Given the description of an element on the screen output the (x, y) to click on. 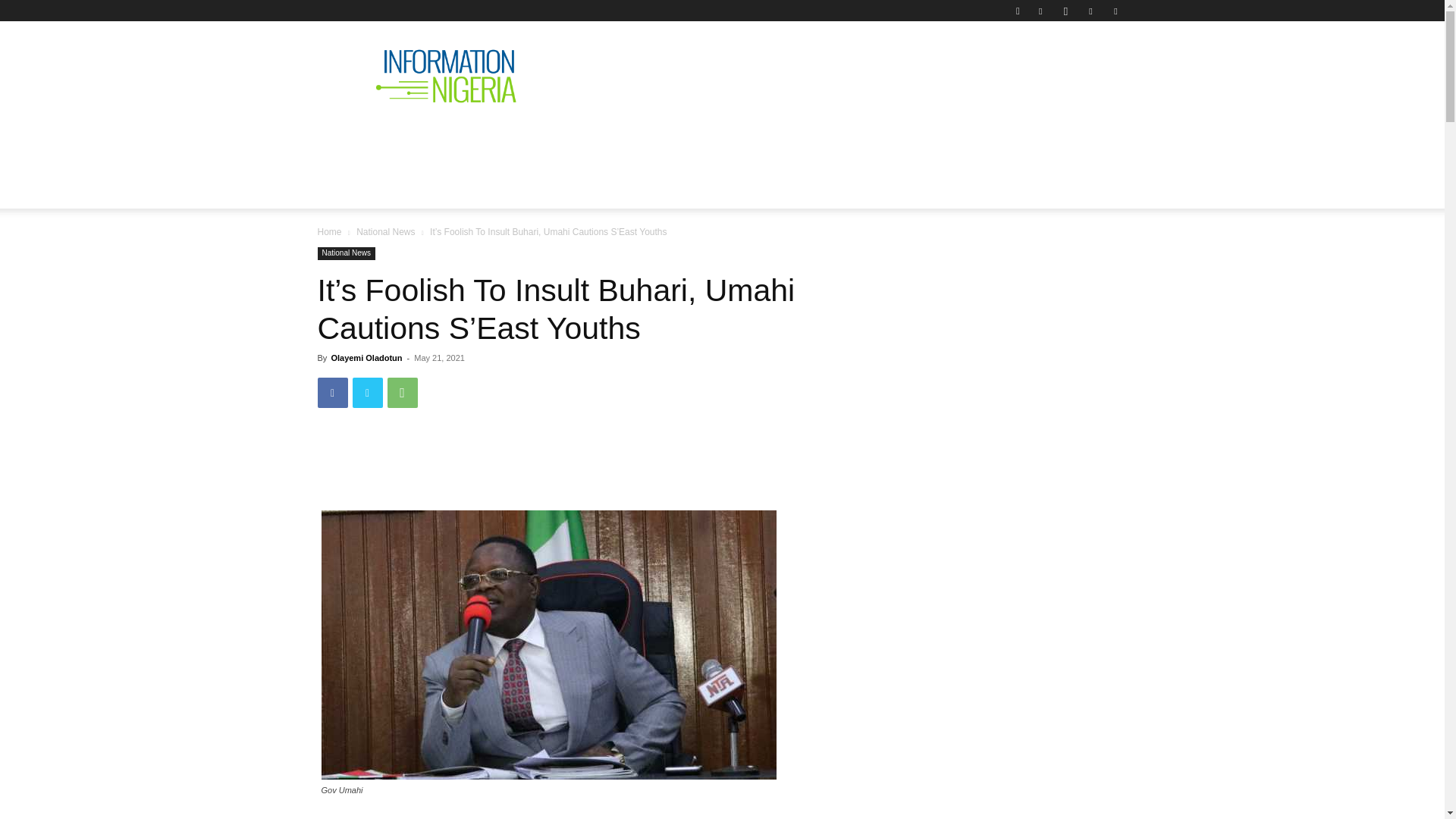
Facebook (332, 392)
Twitter (1090, 10)
POLITICS (563, 139)
Search (1085, 64)
Youtube (1114, 10)
HOME (347, 139)
SPORTS (1006, 139)
SPECIAL REPORTS (673, 139)
Facebook (1040, 10)
Instagram (1065, 10)
Nigeria News, Nigerian Newspaper (446, 76)
BBC PIDGIN (791, 139)
METRO NEWS (903, 139)
NATIONAL NEWS (451, 139)
WhatsApp (401, 392)
